Given the description of an element on the screen output the (x, y) to click on. 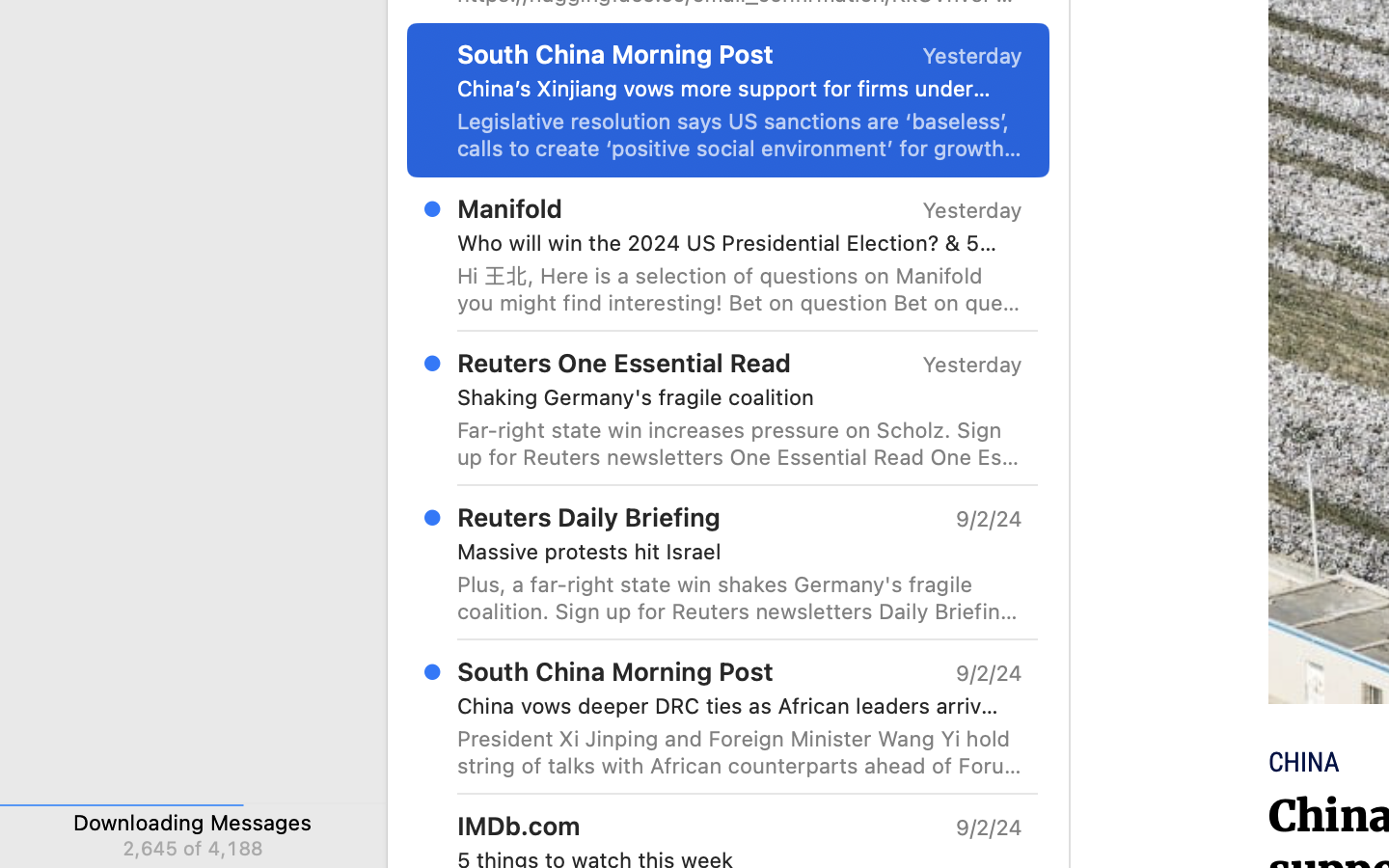
2,072 messages, 958 unread Element type: AXStaticText (677, 732)
IMDb.com Element type: AXStaticText (518, 825)
Manifold Element type: AXStaticText (510, 207)
9/2/24 Element type: AXStaticText (987, 672)
Hi 王北, Here is a selection of questions on Manifold you might find interesting! Bet on question Bet on question Bet on question Bet on question Bet on question Bet on question 🔎 Explore Manifold This e-mail has been sent to 王北, click here to unsubscribe from this type of notification. Element type: AXStaticText (739, 289)
